Given the description of an element on the screen output the (x, y) to click on. 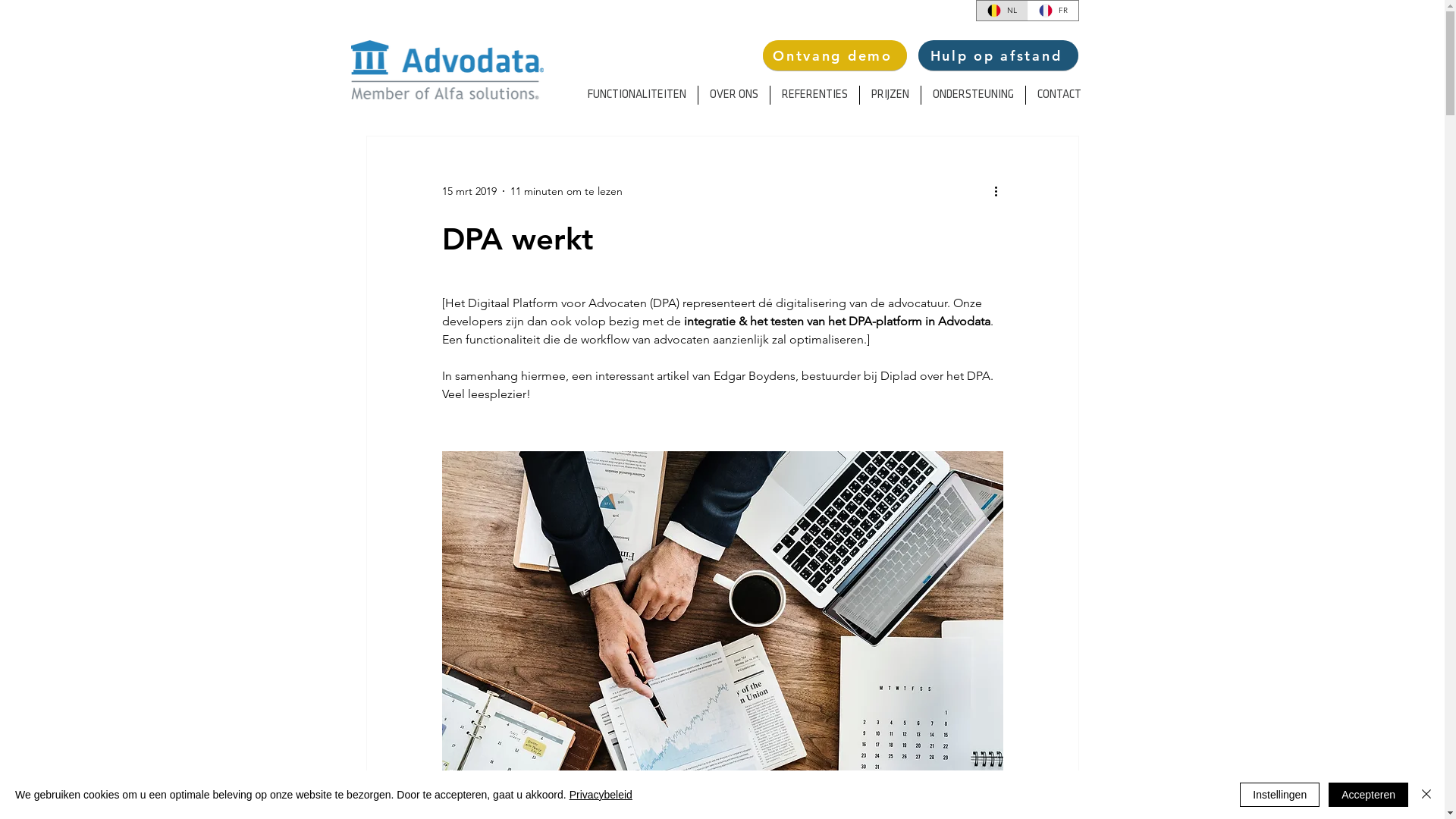
PRIJZEN Element type: text (889, 94)
Hulp op afstand Element type: text (997, 55)
OVER ONS Element type: text (732, 94)
FR Element type: text (1051, 10)
Instellingen Element type: text (1279, 794)
CONTACT Element type: text (1058, 94)
ONDERSTEUNING Element type: text (972, 94)
Ontvang demo Element type: text (834, 55)
REFERENTIES Element type: text (814, 94)
Accepteren Element type: text (1368, 794)
Privacybeleid Element type: text (600, 794)
FUNCTIONALITEITEN Element type: text (636, 94)
NL Element type: text (1001, 10)
